Given the description of an element on the screen output the (x, y) to click on. 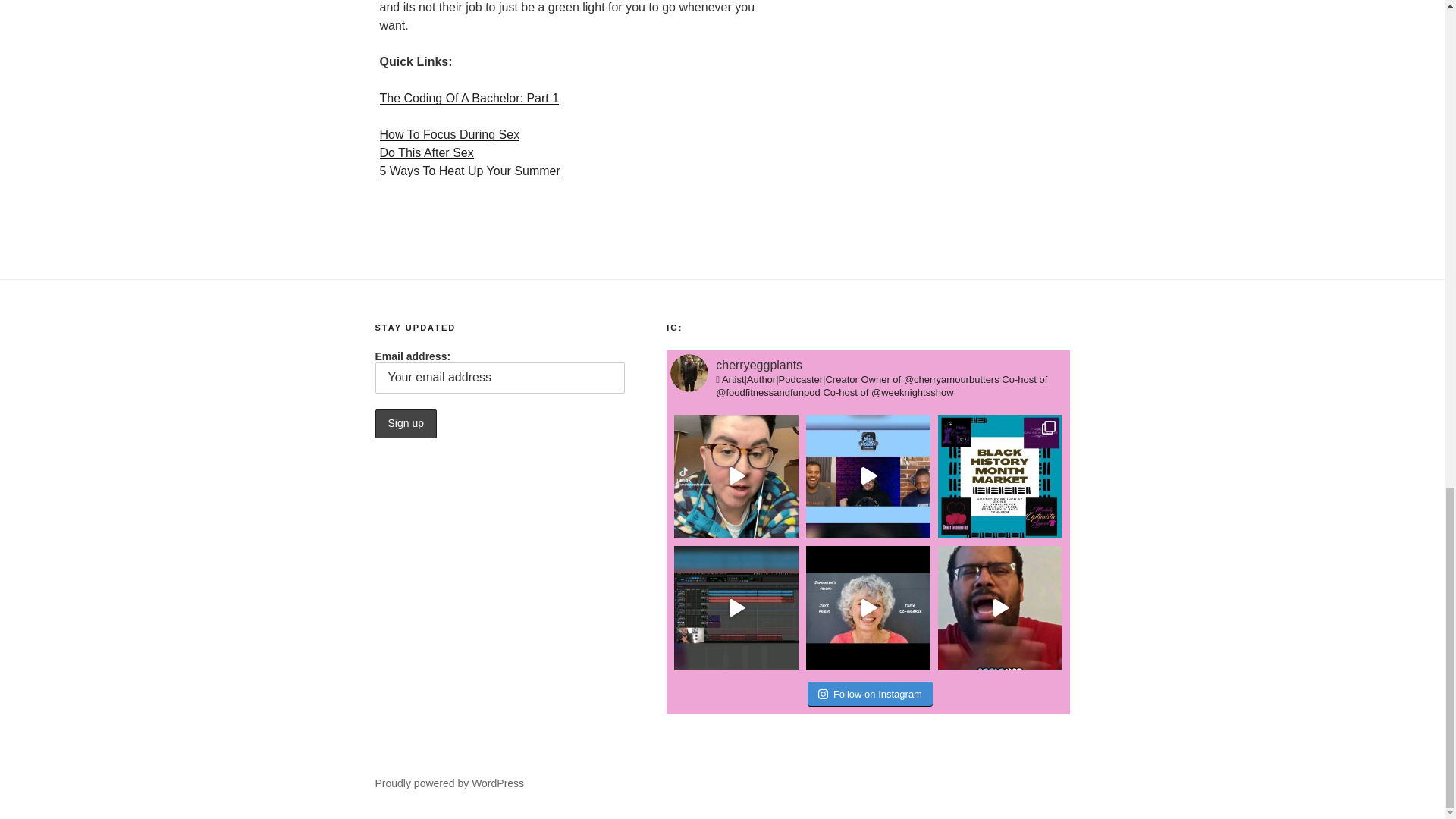
The Coding Of A Bachelor: Part 1 (468, 97)
Sign up (404, 423)
Follow on Instagram (870, 694)
How To Focus During Sex (448, 133)
Sign up (404, 423)
Proudly powered by WordPress (449, 783)
Do This After Sex (425, 152)
5 Ways To Heat Up Your Summer (468, 170)
